Given the description of an element on the screen output the (x, y) to click on. 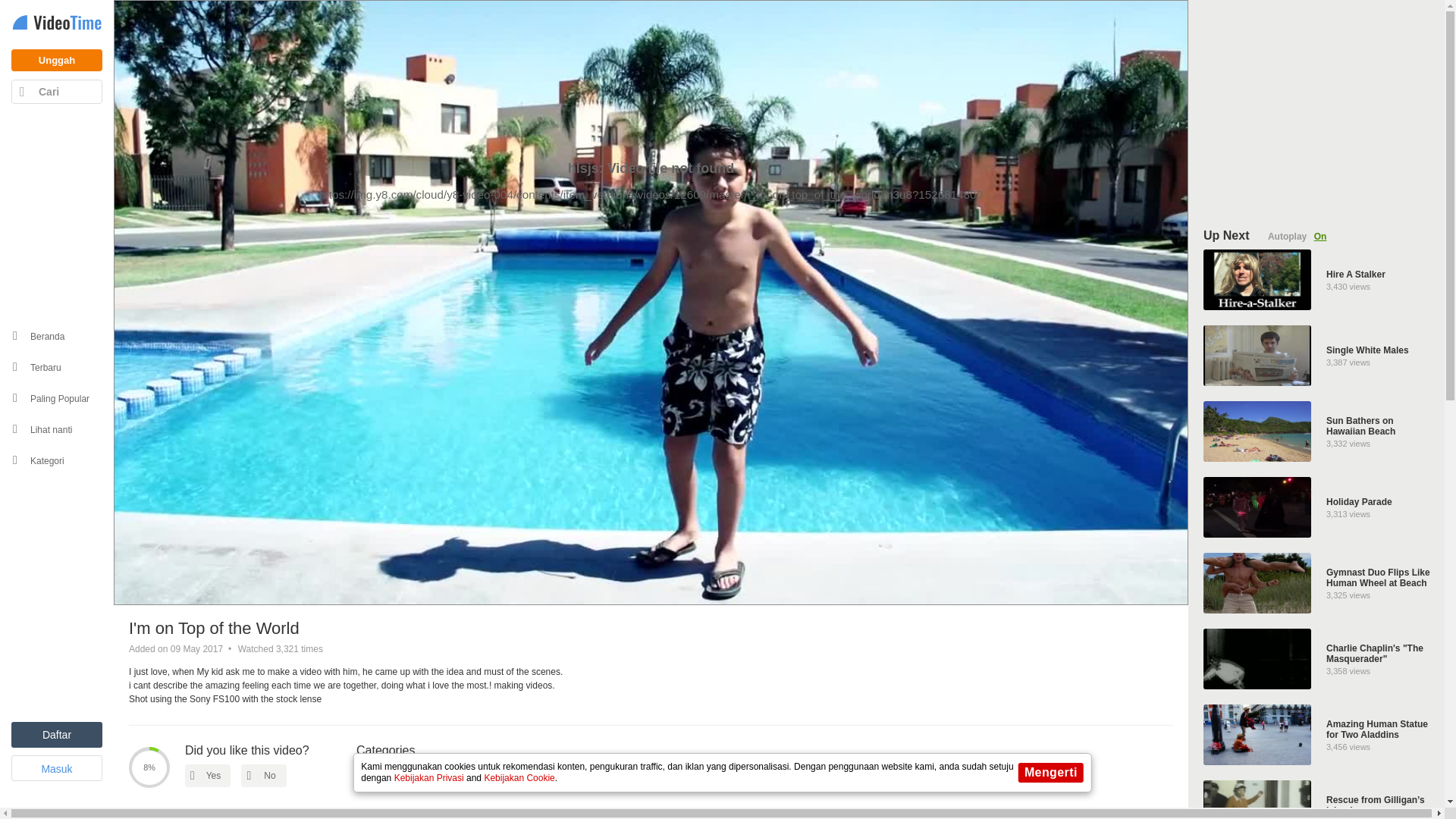
No (1317, 658)
Cari (1317, 355)
Kebijakan Privasi (263, 775)
Tonton Video dan Animasi Online Gratis (1317, 506)
Terbaru (56, 91)
Paling Popular (429, 777)
Tonton Video Gratis Terbaru (384, 775)
